Given the description of an element on the screen output the (x, y) to click on. 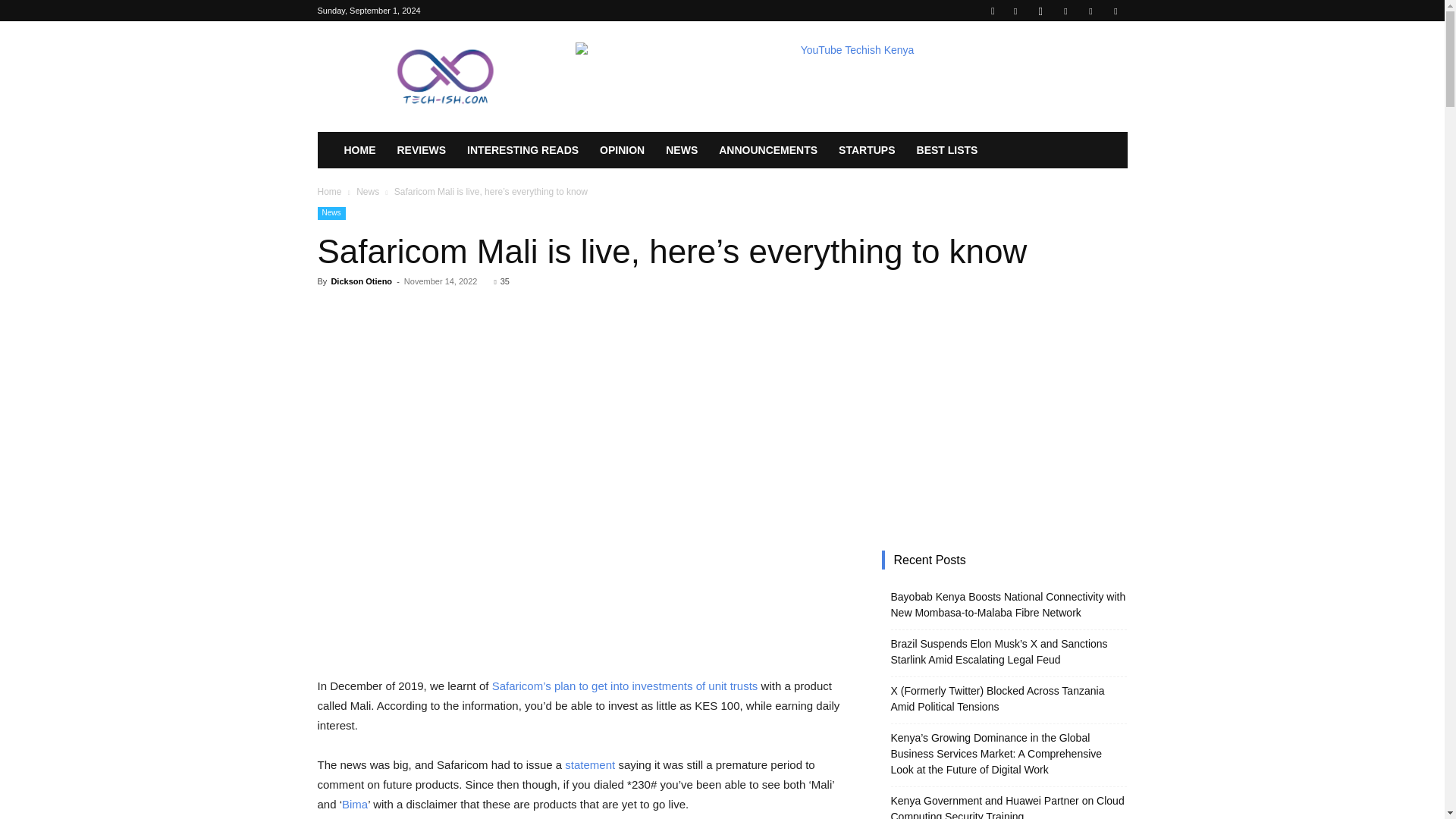
HOME (360, 149)
Home (328, 191)
Search (1085, 64)
Dickson Otieno (360, 280)
Twitter (1090, 10)
News (367, 191)
STARTUPS (866, 149)
ANNOUNCEMENTS (767, 149)
NEWS (681, 149)
Youtube (1114, 10)
